Given the description of an element on the screen output the (x, y) to click on. 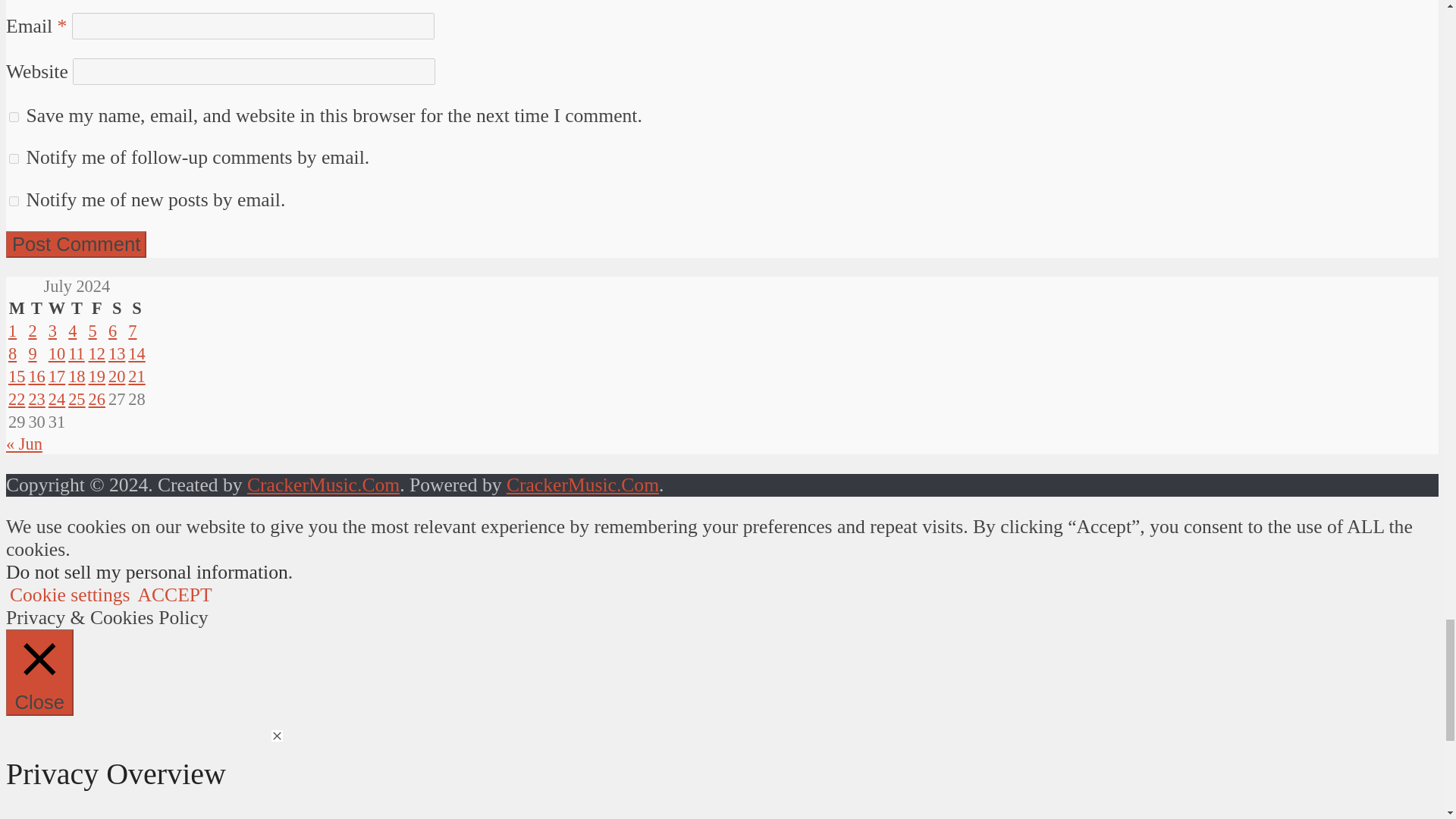
subscribe (13, 158)
yes (13, 117)
Post Comment (76, 243)
subscribe (13, 201)
